Given the description of an element on the screen output the (x, y) to click on. 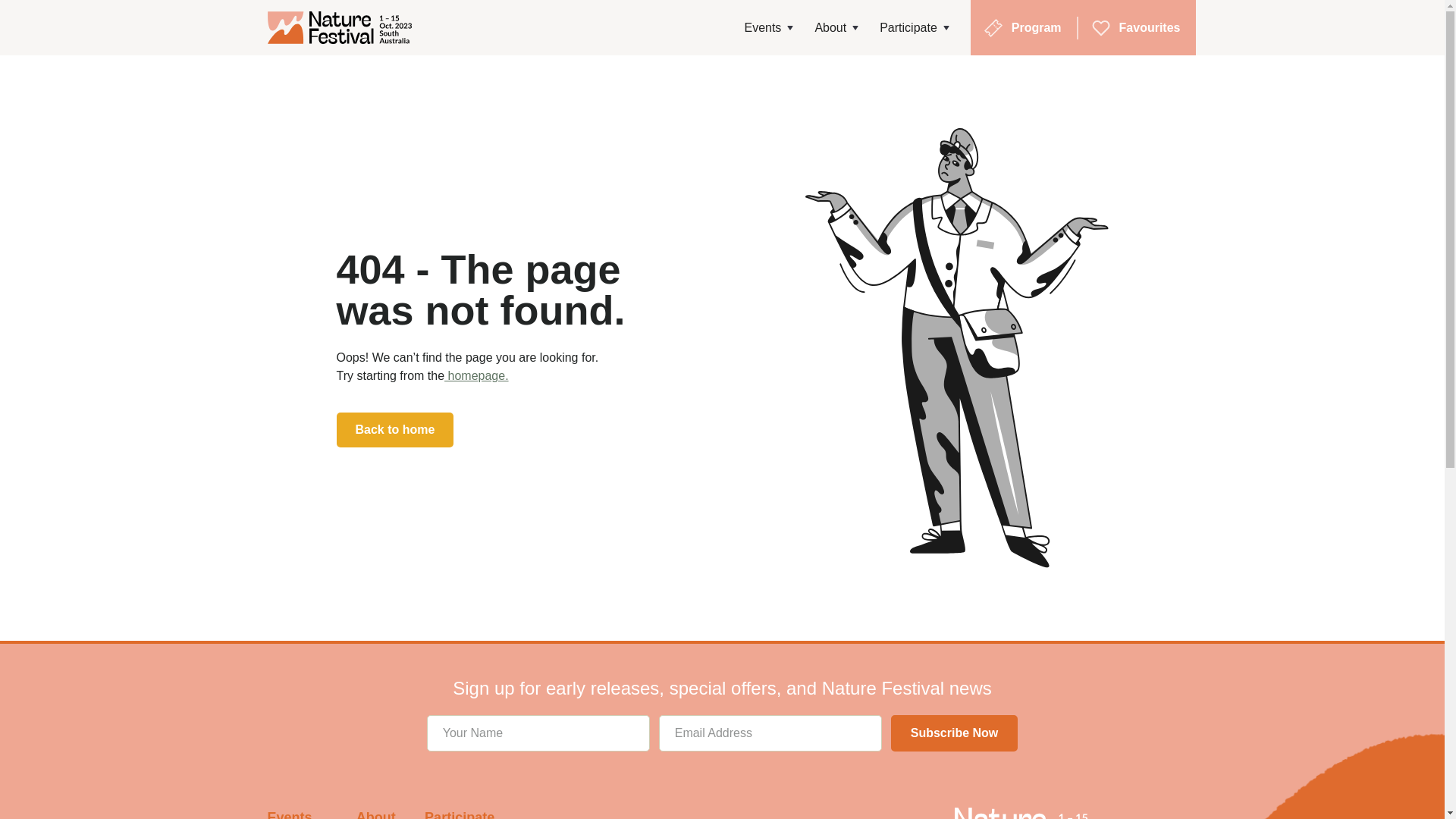
Program Element type: text (1023, 27)
Favourites Element type: text (1136, 27)
Subscribe Now Element type: text (954, 733)
Back to home Element type: text (395, 429)
homepage. Element type: text (476, 375)
